Given the description of an element on the screen output the (x, y) to click on. 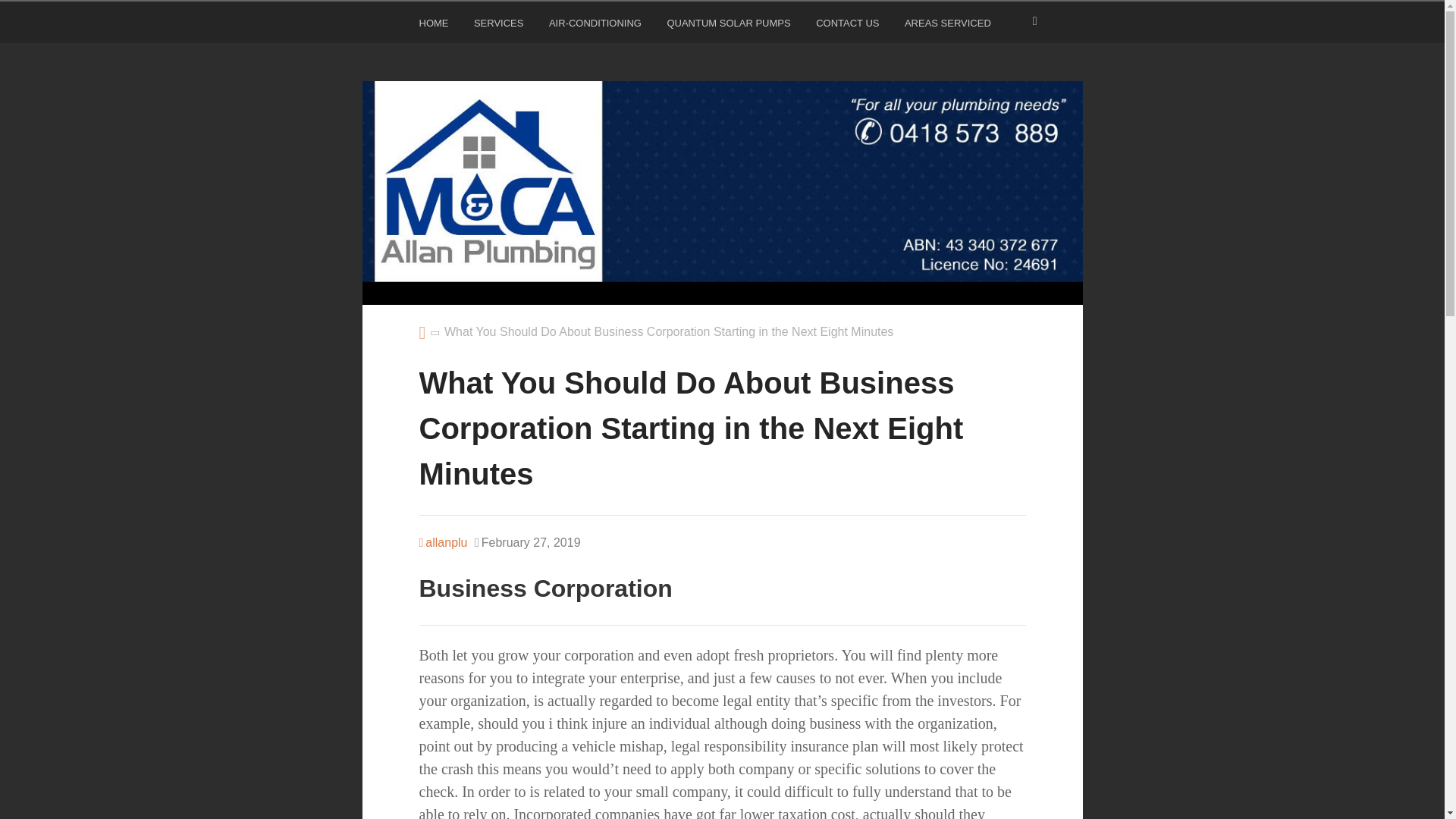
allanplu (443, 542)
Search (30, 15)
SERVICES (500, 26)
AREAS SERVICED (949, 26)
CONTACT US (848, 26)
QUANTUM SOLAR PUMPS (729, 26)
Wednesday, February 27, 2019, 2:31 pm (527, 542)
Posts by allanplu (443, 542)
HOME (435, 26)
AIR-CONDITIONING (596, 26)
